Given the description of an element on the screen output the (x, y) to click on. 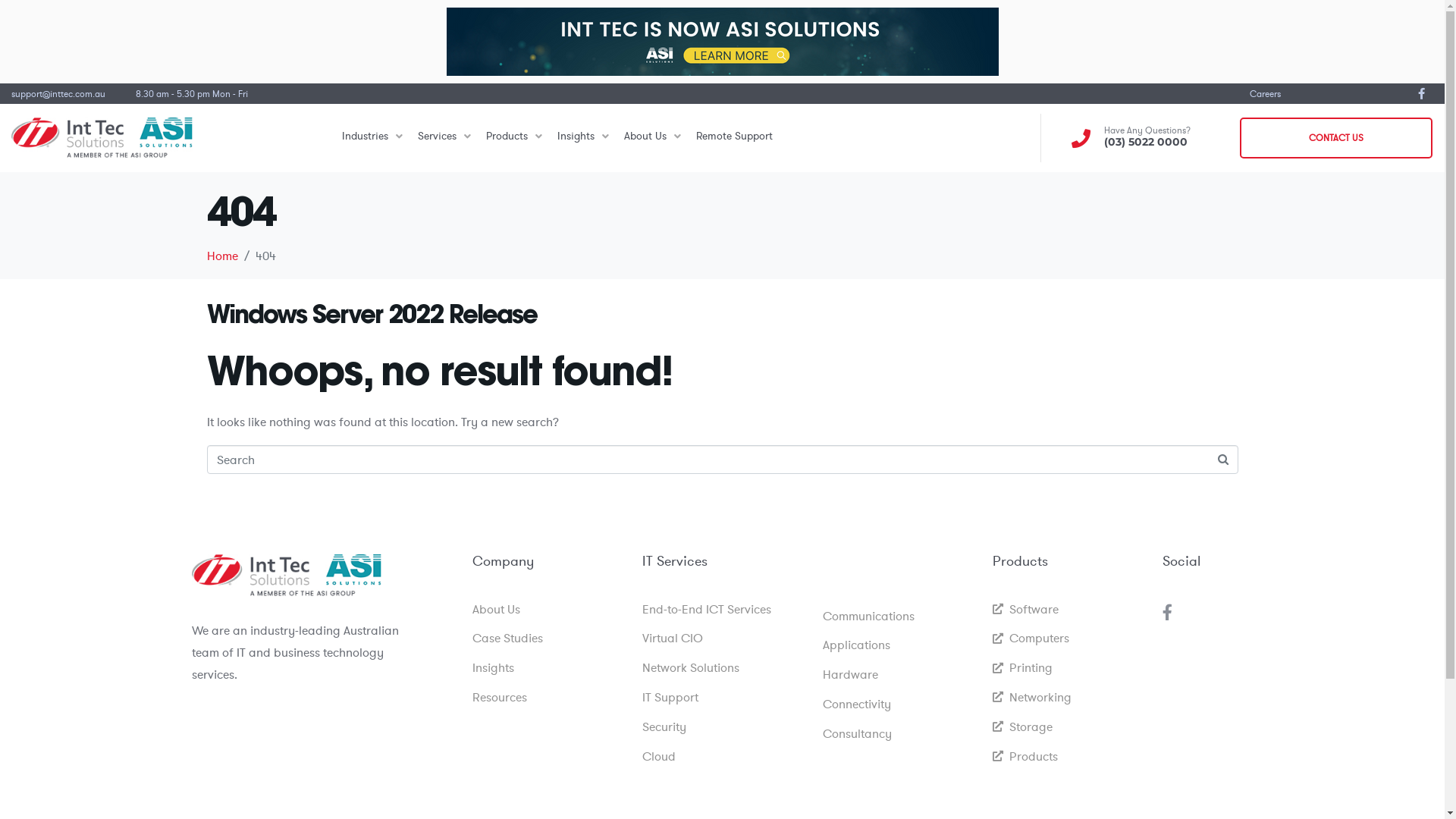
Communications Element type: text (899, 616)
Network Solutions Element type: text (723, 667)
Remote Support Element type: text (734, 137)
Products Element type: text (1068, 756)
(03) 5022 0000 Element type: text (1145, 141)
Applications Element type: text (899, 644)
Security Element type: text (723, 726)
Home Element type: text (221, 255)
Insights Element type: text (548, 667)
Software Element type: text (1068, 609)
Products Element type: text (514, 137)
Windows Server 2022 Release Element type: text (371, 313)
IT Support Element type: text (723, 697)
End-to-End ICT Services Element type: text (723, 609)
Resources Element type: text (548, 697)
About Us Element type: text (652, 137)
About Us Element type: text (548, 609)
Storage Element type: text (1068, 726)
Virtual CIO Element type: text (723, 638)
Cloud Element type: text (723, 756)
Consultancy Element type: text (899, 733)
Careers Element type: text (1264, 92)
CONTACT US Element type: text (1335, 137)
Printing Element type: text (1068, 667)
Networking Element type: text (1068, 697)
Insights Element type: text (582, 137)
Case Studies Element type: text (548, 638)
Services Element type: text (443, 137)
Connectivity Element type: text (899, 704)
Hardware Element type: text (899, 674)
Industries Element type: text (372, 137)
Computers Element type: text (1068, 638)
